Given the description of an element on the screen output the (x, y) to click on. 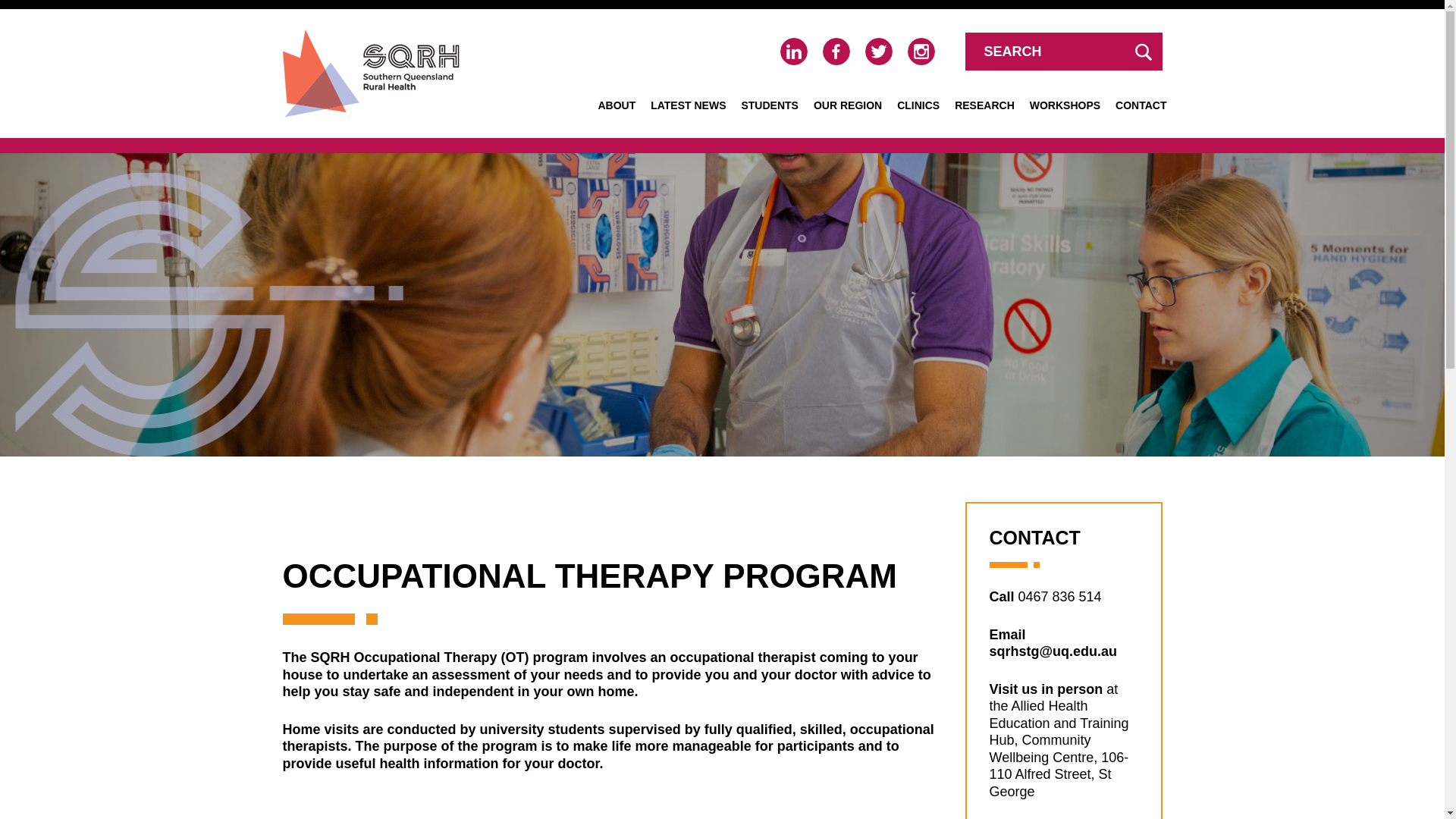
STUDENTS (769, 105)
Follow us on Instagram (920, 51)
Follow us on Twitter (877, 51)
RESEARCH (984, 105)
CLINICS (918, 105)
OUR REGION (847, 105)
Connect with us on LinkedIn (792, 51)
WORKSHOPS (1065, 105)
LATEST NEWS (688, 105)
CONTACT (1140, 105)
Like us on Facebook (835, 51)
SQRH - Southern Queensland Rural Health (370, 73)
ABOUT (616, 105)
